Given the description of an element on the screen output the (x, y) to click on. 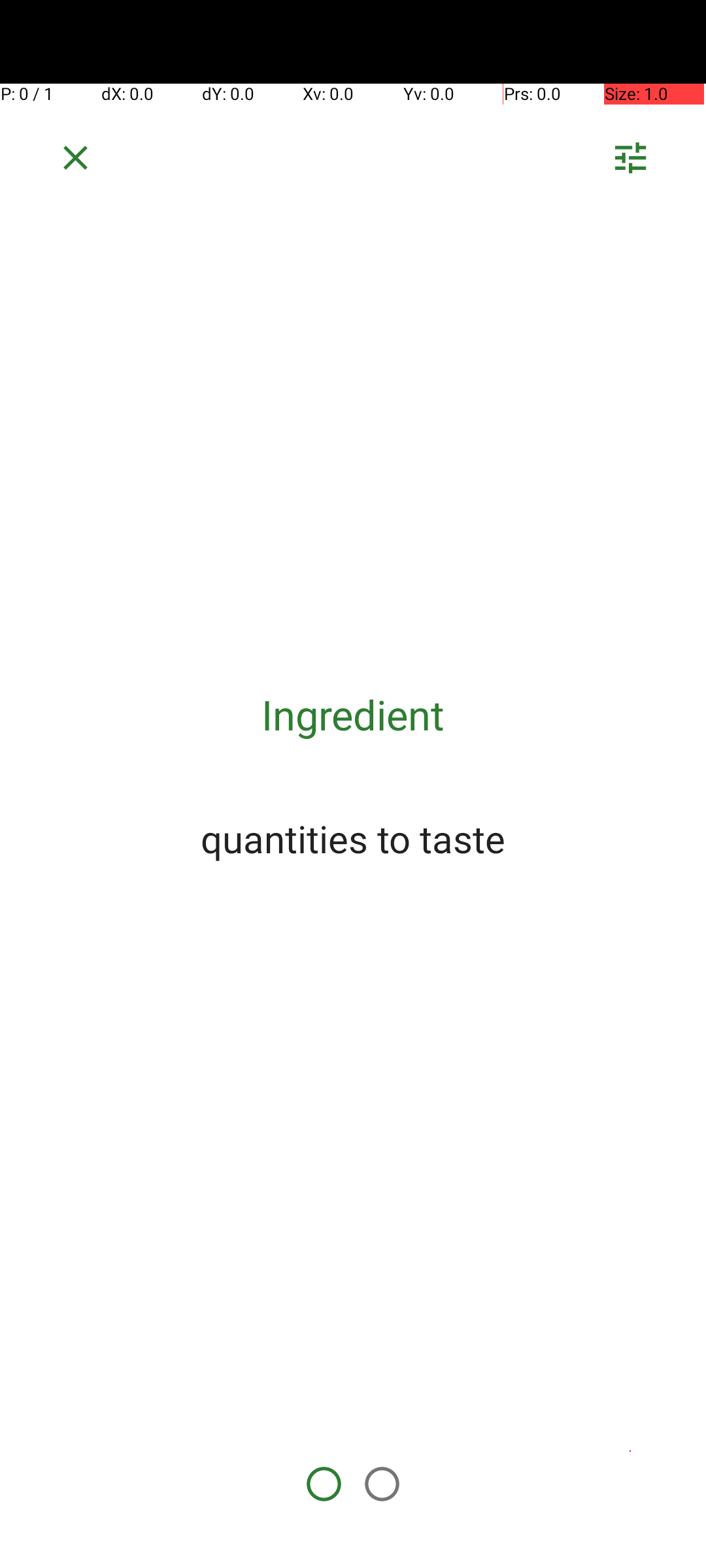
quantities to taste Element type: android.widget.TextView (352, 838)
